Given the description of an element on the screen output the (x, y) to click on. 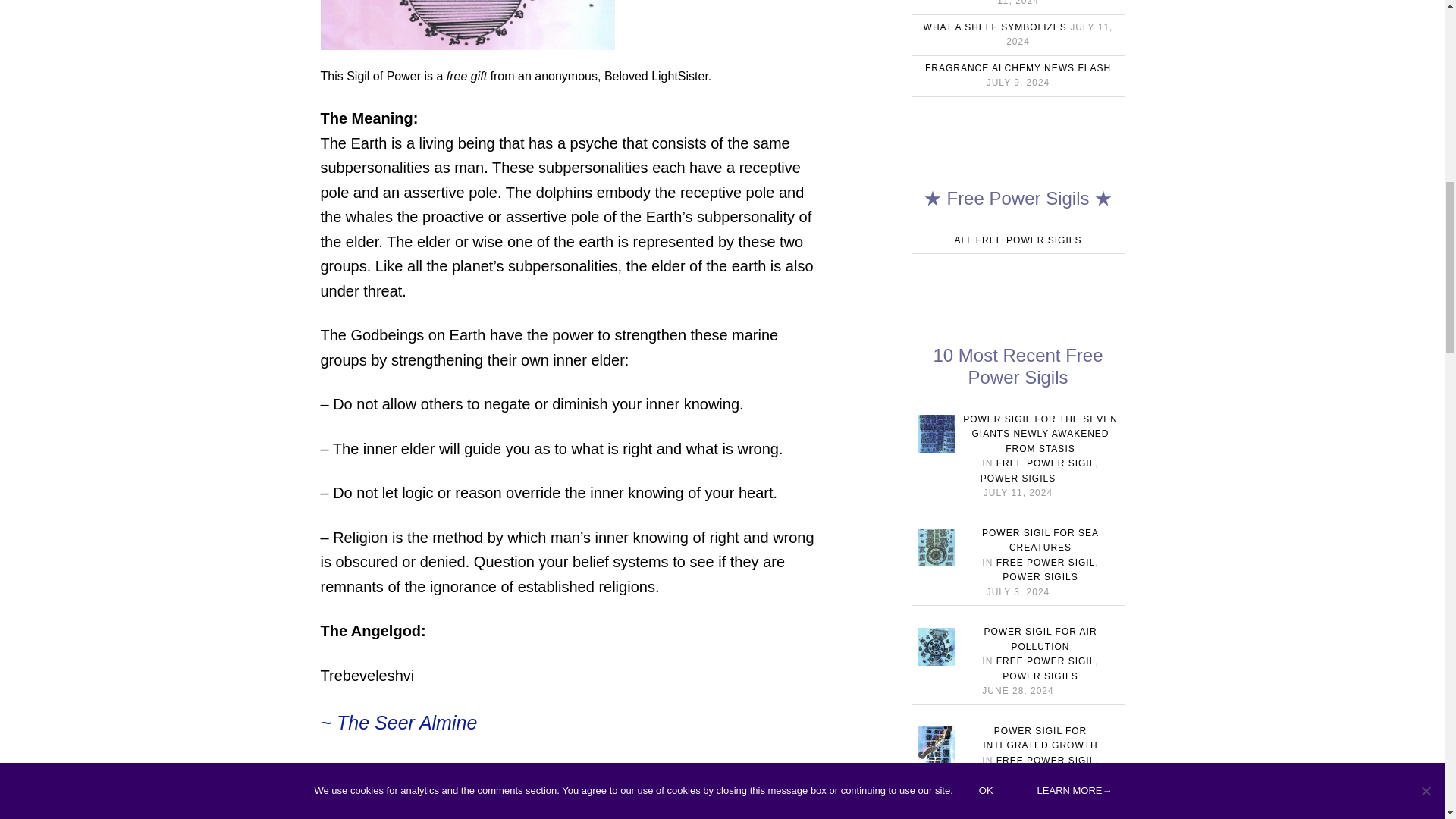
POWER SIGILS (1017, 478)
FRAGRANCE ALCHEMY NEWS FLASH (1017, 68)
WHAT A SHELF SYMBOLIZES (995, 27)
Download the PDF here (404, 770)
FREE POWER SIGIL (1045, 462)
POWER SIGIL FOR SEA CREATURES (1040, 540)
POWER SIGIL FOR THE SEVEN GIANTS NEWLY AWAKENED FROM STASIS (1040, 434)
ALL FREE POWER SIGILS (1018, 240)
Download the PNG here (406, 812)
